Given the description of an element on the screen output the (x, y) to click on. 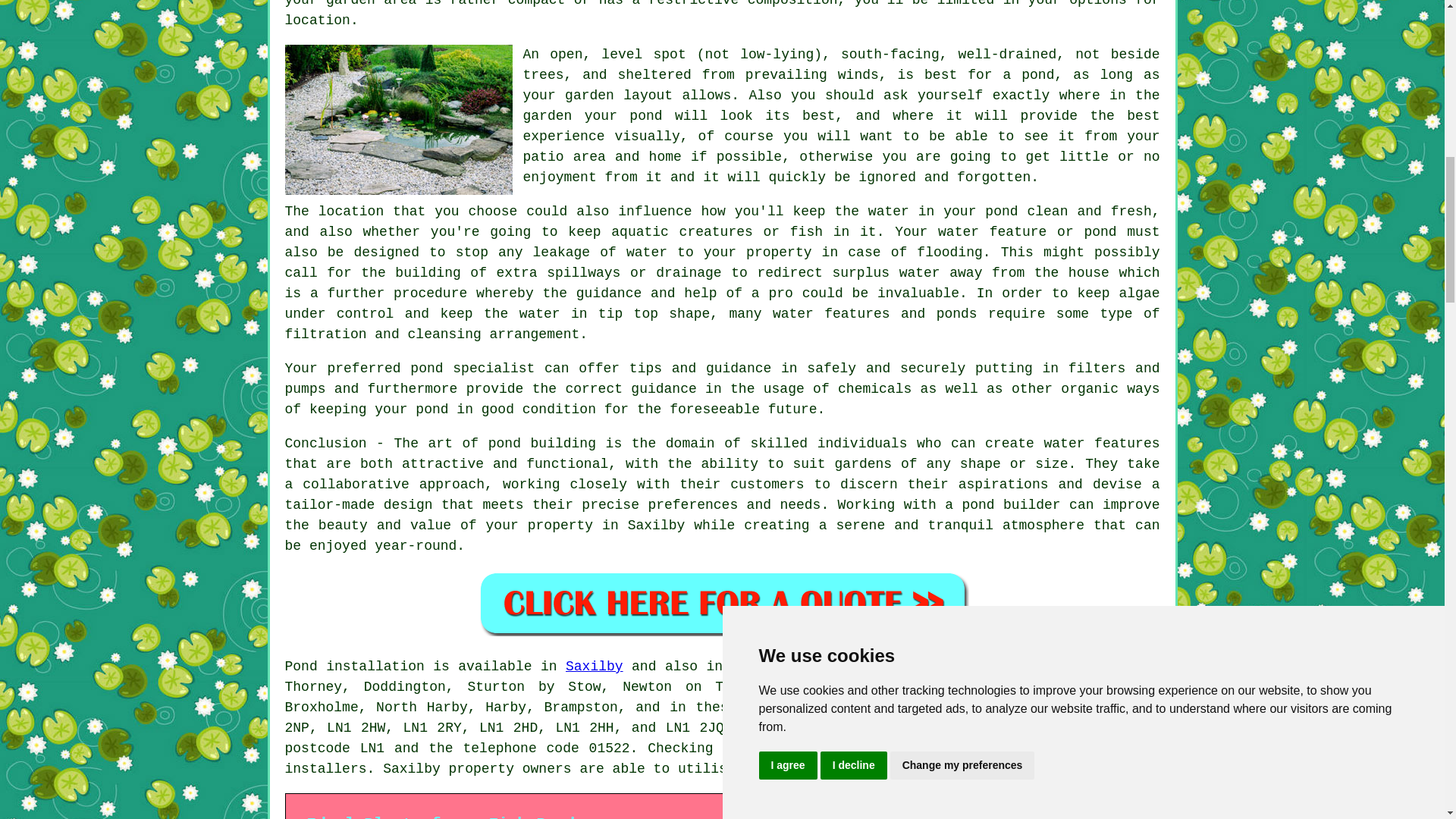
pond builder (1009, 504)
Pond Installer Quotes in Saxilby Lincolnshire (722, 603)
Pond (301, 666)
pond building (541, 443)
pond (1038, 74)
pond installers (722, 758)
pond builders (912, 727)
